Given the description of an element on the screen output the (x, y) to click on. 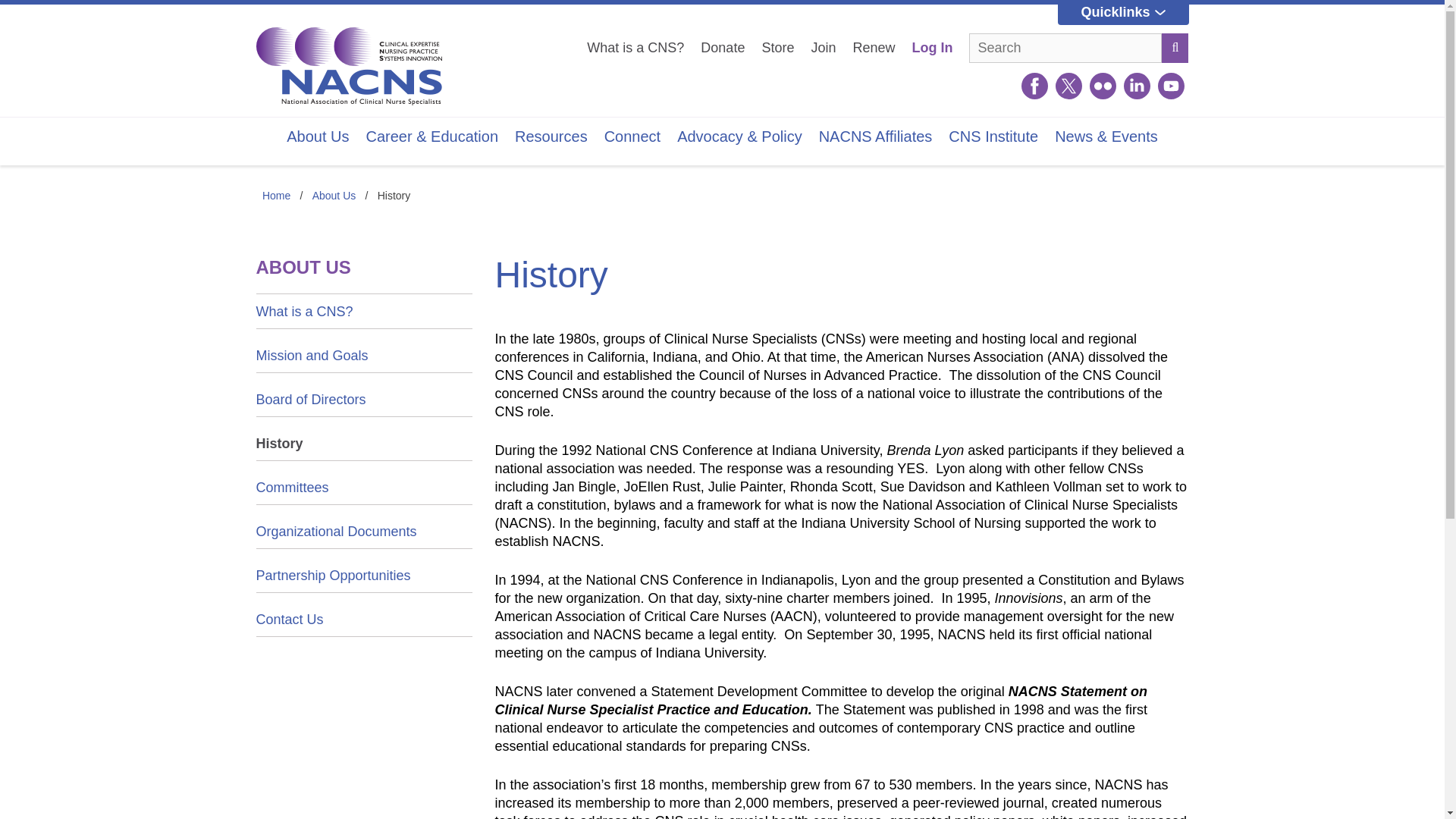
Donate (722, 47)
Log In (931, 47)
Store (777, 47)
Go to About Us. (333, 195)
What is a CNS? (635, 47)
About Us (317, 136)
Join (822, 47)
Renew (873, 47)
